Given the description of an element on the screen output the (x, y) to click on. 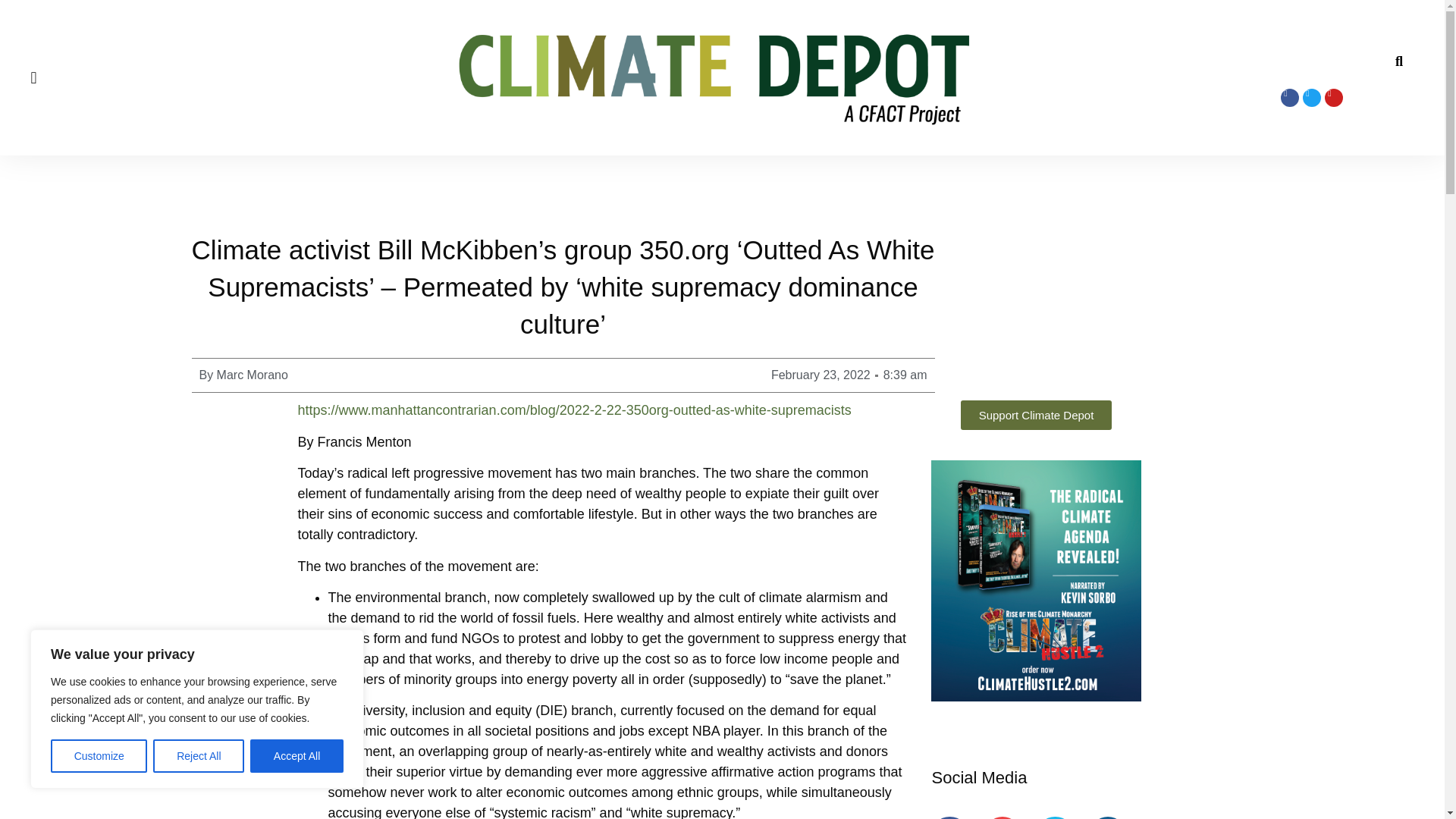
Reject All (198, 756)
February 23, 2022 (820, 375)
Support Climate Depot (1036, 414)
By Marc Morano (242, 375)
Customize (98, 756)
Accept All (296, 756)
